Given the description of an element on the screen output the (x, y) to click on. 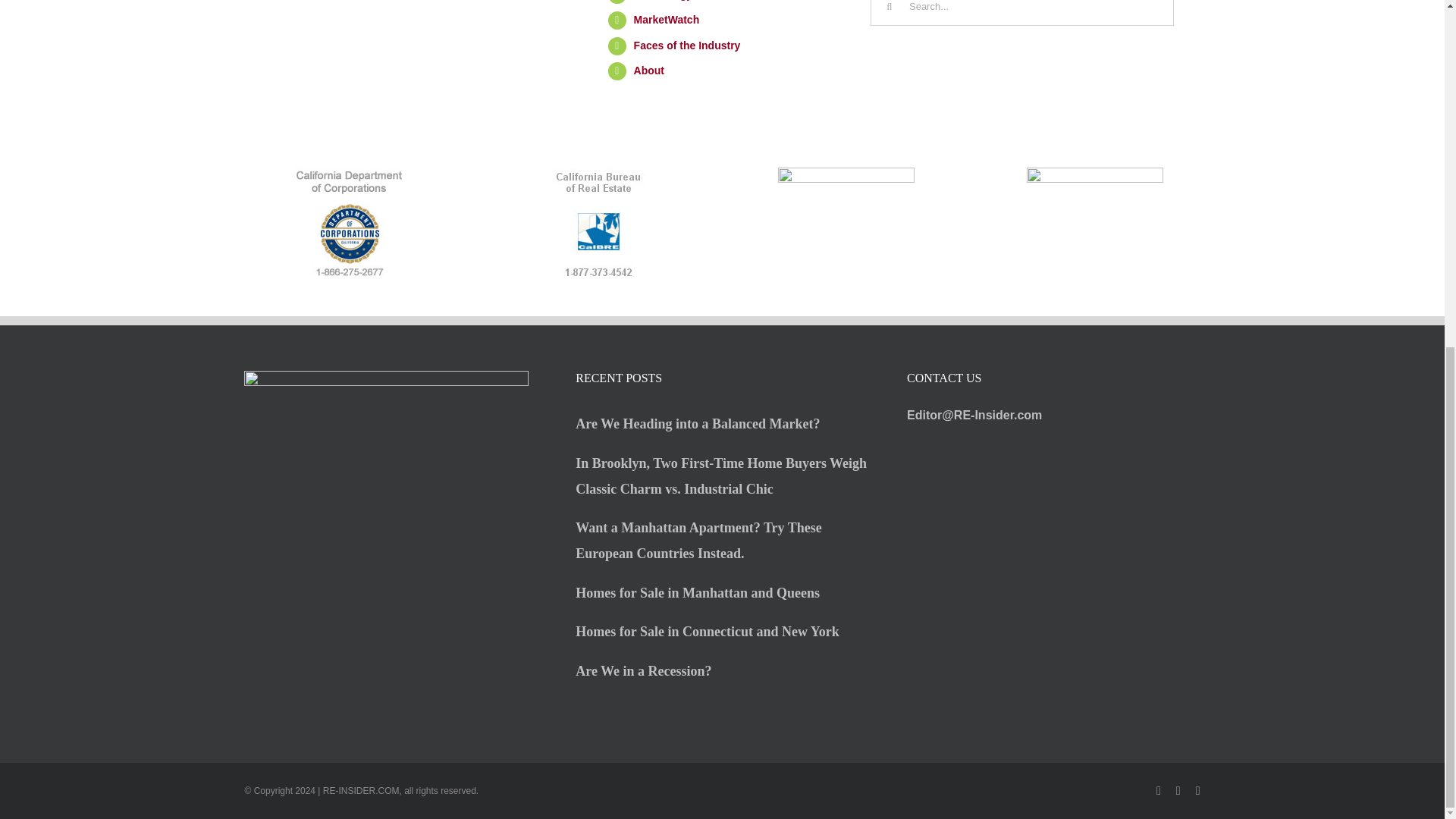
Technology (663, 0)
MarketWatch (666, 19)
Faces of the Industry (687, 45)
About (648, 70)
